Given the description of an element on the screen output the (x, y) to click on. 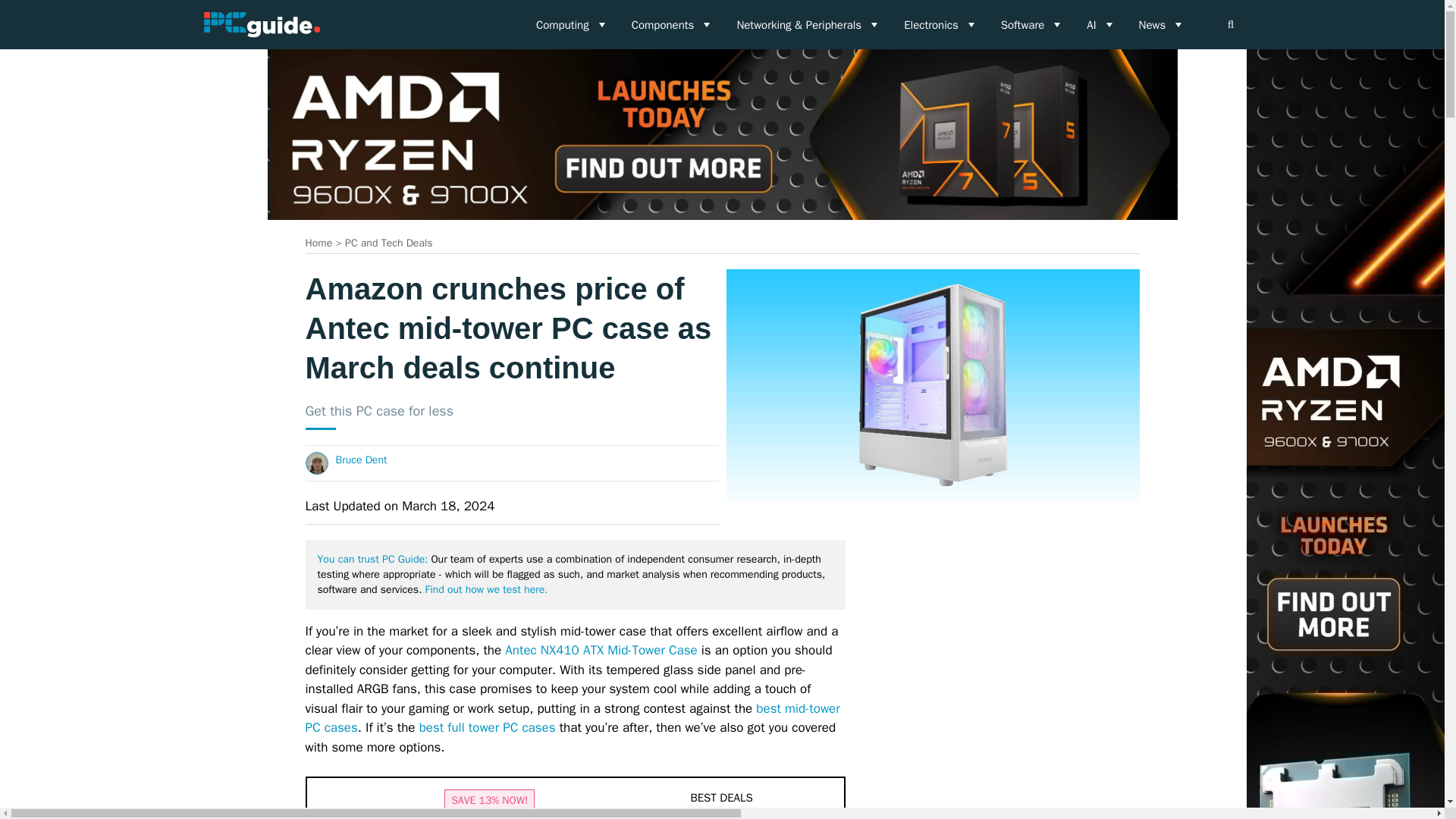
PC Guide (260, 23)
PC Guide (260, 24)
Computing (571, 23)
